Given the description of an element on the screen output the (x, y) to click on. 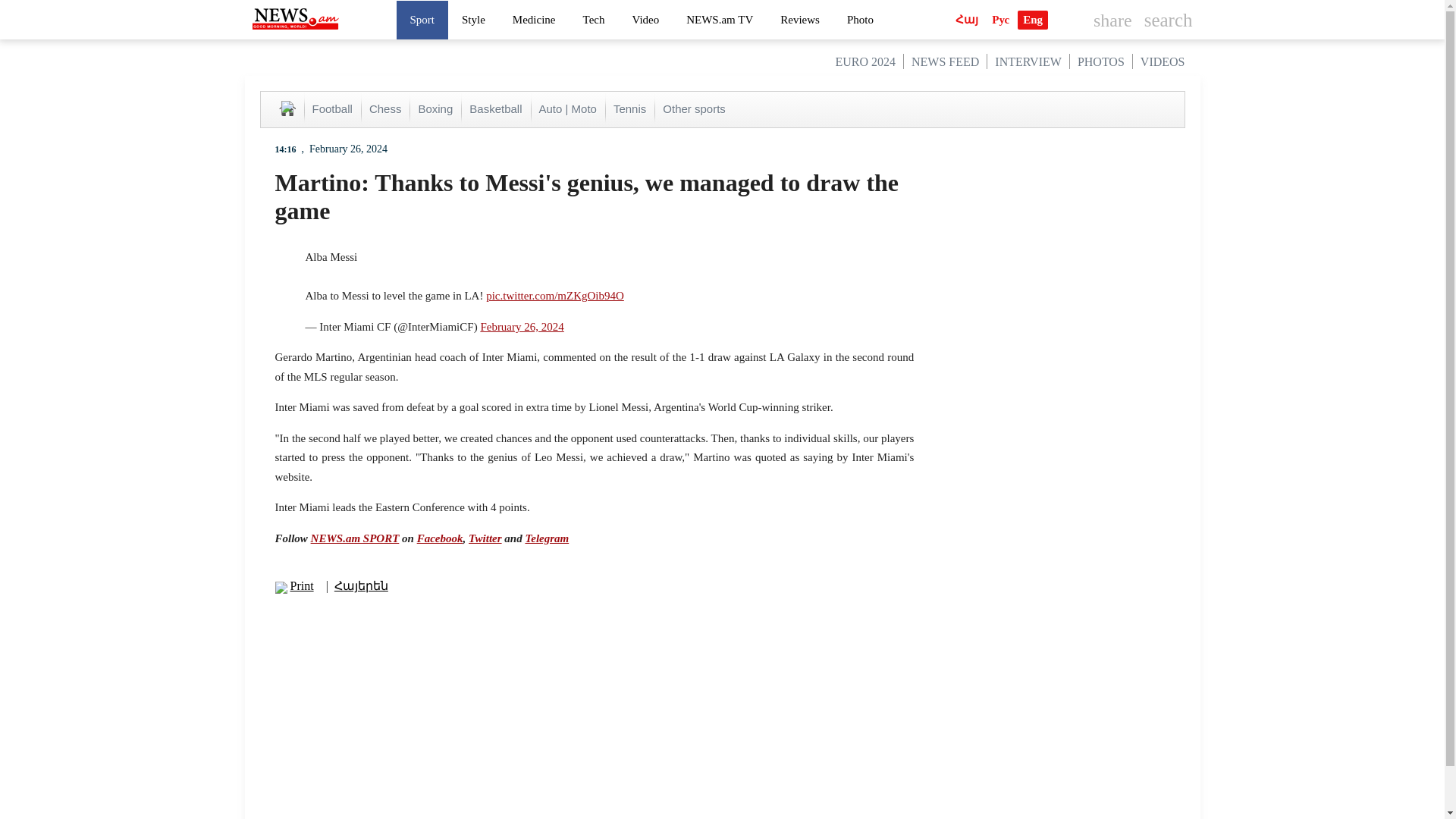
EURO 2024 (864, 61)
NEWS.am TV (719, 19)
NEWS FEED (944, 61)
Eng (1032, 19)
Style (473, 19)
Medicine (534, 19)
Reviews (799, 19)
INTERVIEW (1027, 61)
Tech (593, 19)
Photo (859, 19)
Football (331, 109)
PHOTOS (1100, 61)
Eng (1032, 19)
Sport (422, 19)
VIDEOS (1162, 61)
